Given the description of an element on the screen output the (x, y) to click on. 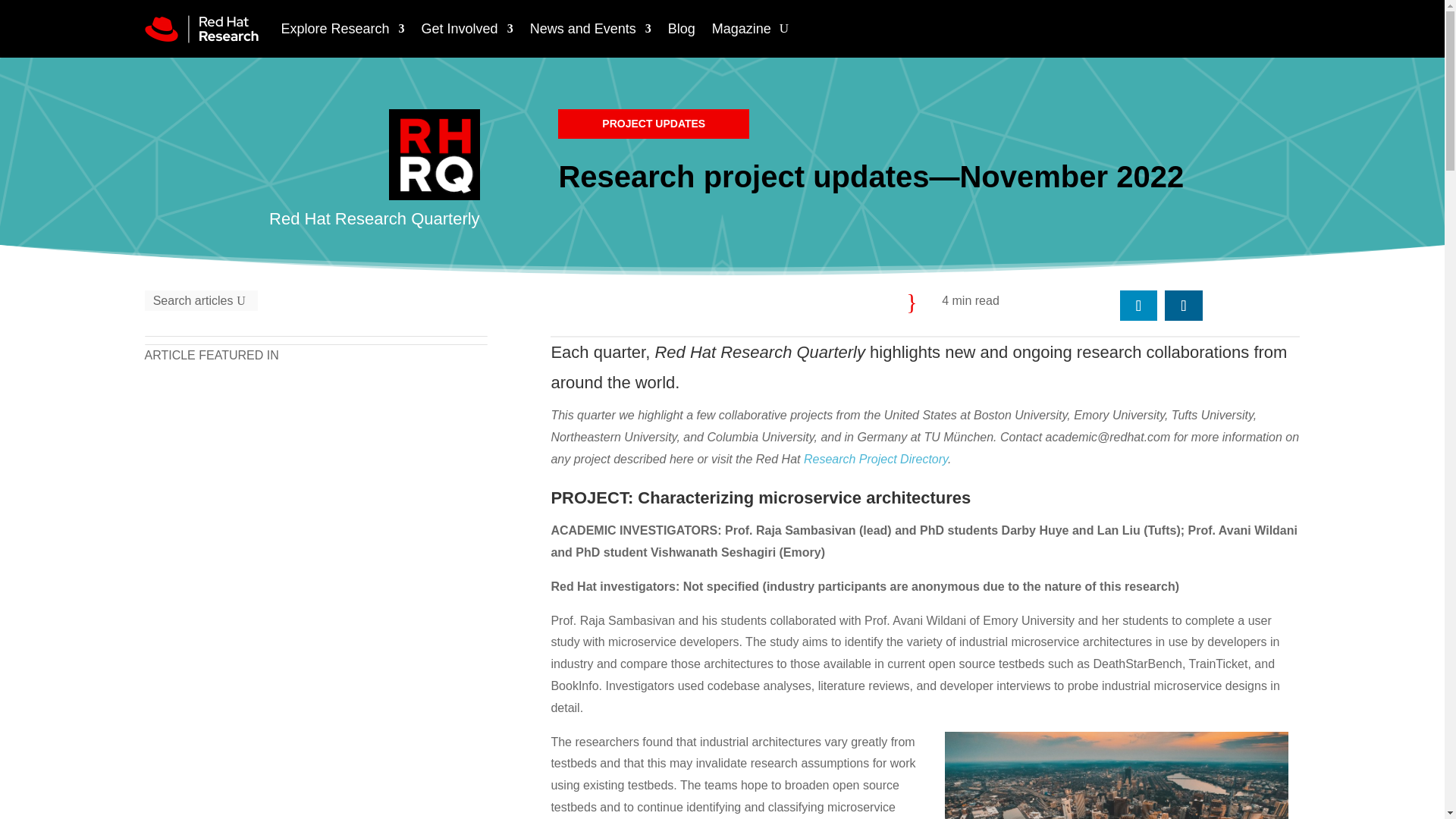
Get Involved (467, 28)
Explore Research (342, 28)
PROJECT UPDATES (653, 123)
Magazine (741, 28)
News and Events (589, 28)
Blog (681, 28)
